Given the description of an element on the screen output the (x, y) to click on. 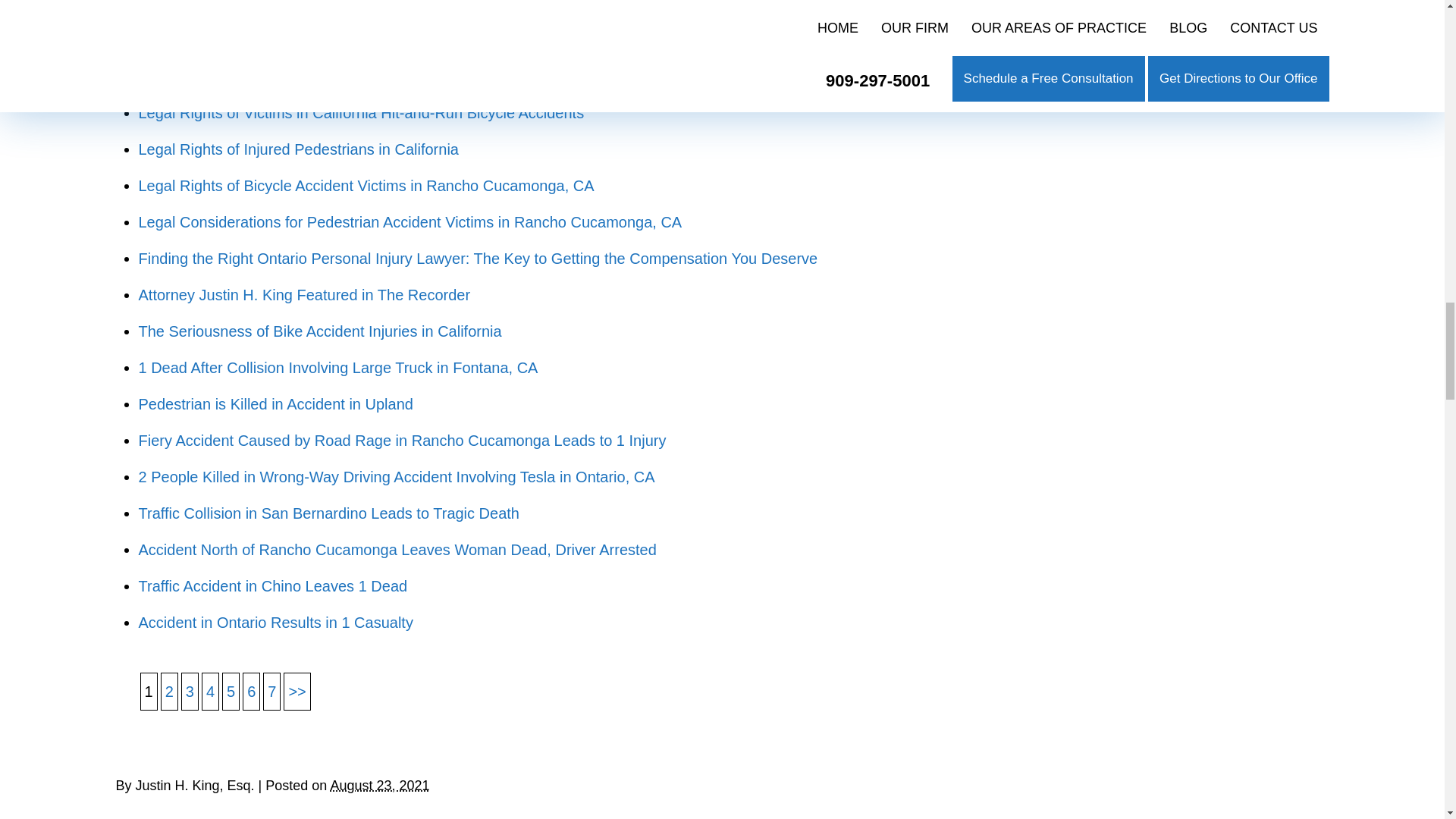
2021-08-23T09:43:16-0700 (379, 785)
Facebook (139, 748)
LinkedIn (160, 748)
2 (296, 691)
Twitter (149, 748)
